Given the description of an element on the screen output the (x, y) to click on. 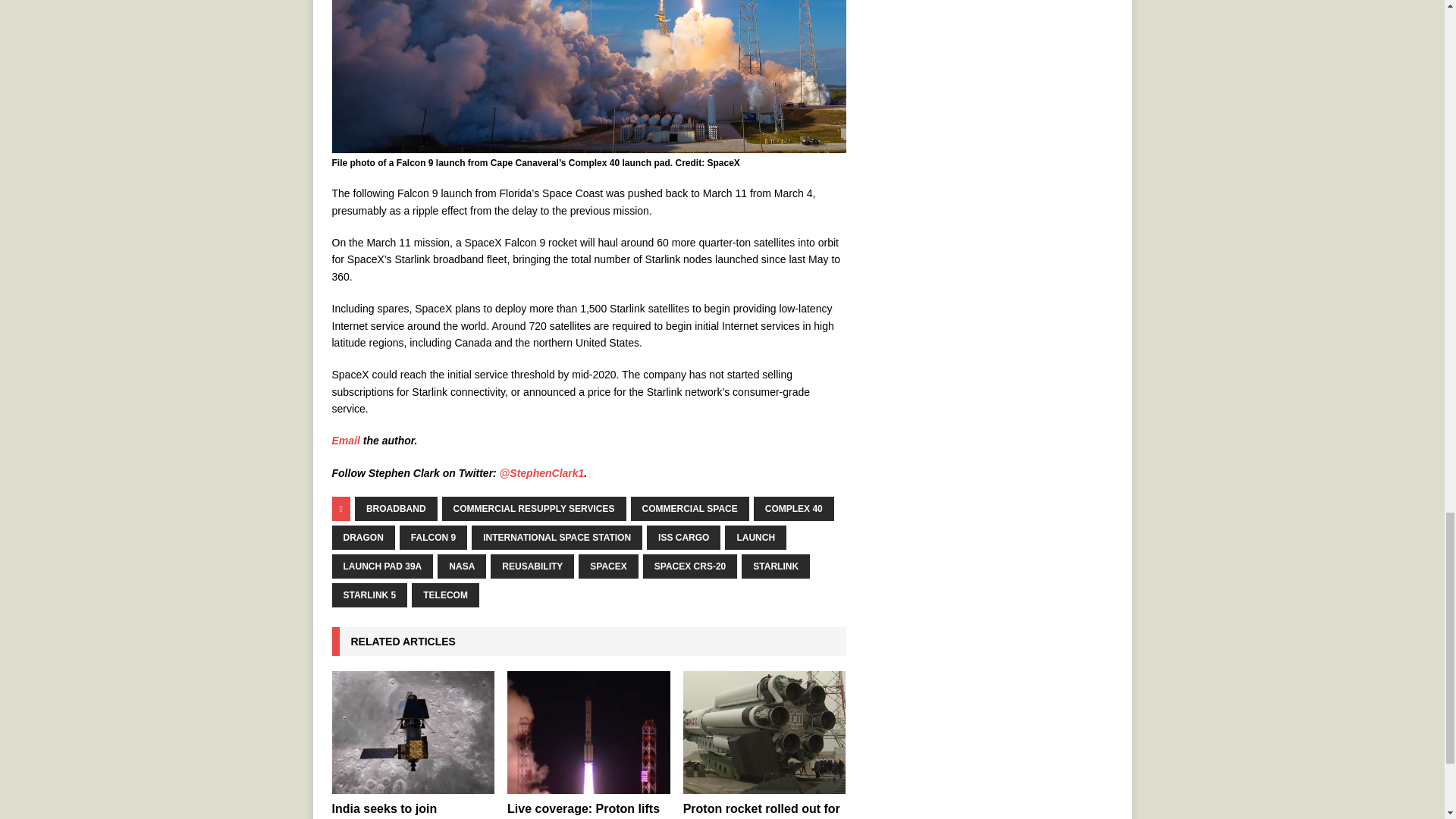
Proton rocket rolled out for launch of Eutelsat satellite (761, 810)
Proton rocket rolled out for launch of Eutelsat satellite (763, 731)
